Given the description of an element on the screen output the (x, y) to click on. 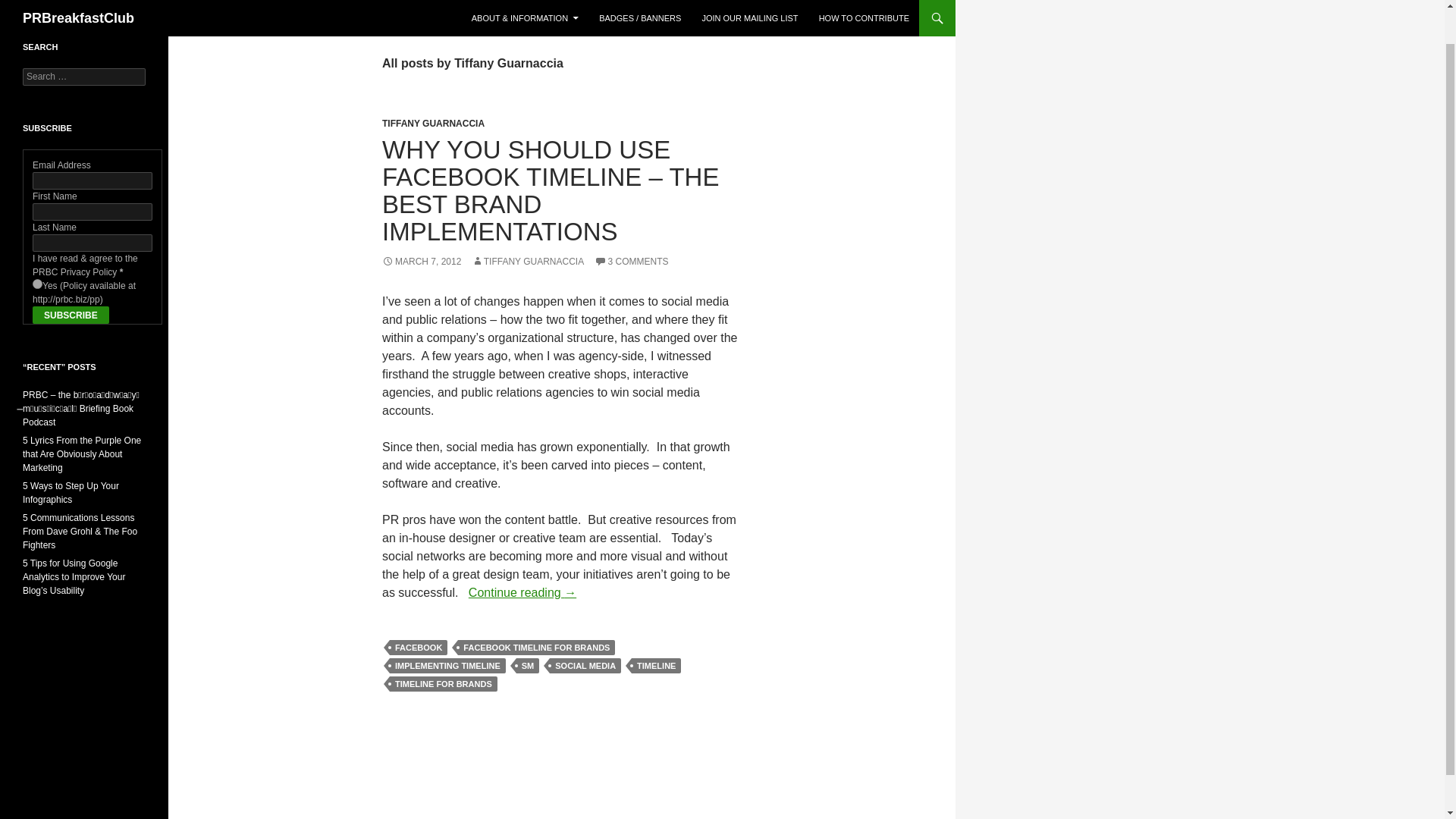
TIMELINE (656, 665)
Subscribe (70, 314)
IMPLEMENTING TIMELINE (447, 665)
3 COMMENTS (631, 261)
SM (528, 665)
TIFFANY GUARNACCIA (527, 261)
Subscribe (70, 314)
FACEBOOK TIMELINE FOR BRANDS (536, 647)
MARCH 7, 2012 (421, 261)
